Given the description of an element on the screen output the (x, y) to click on. 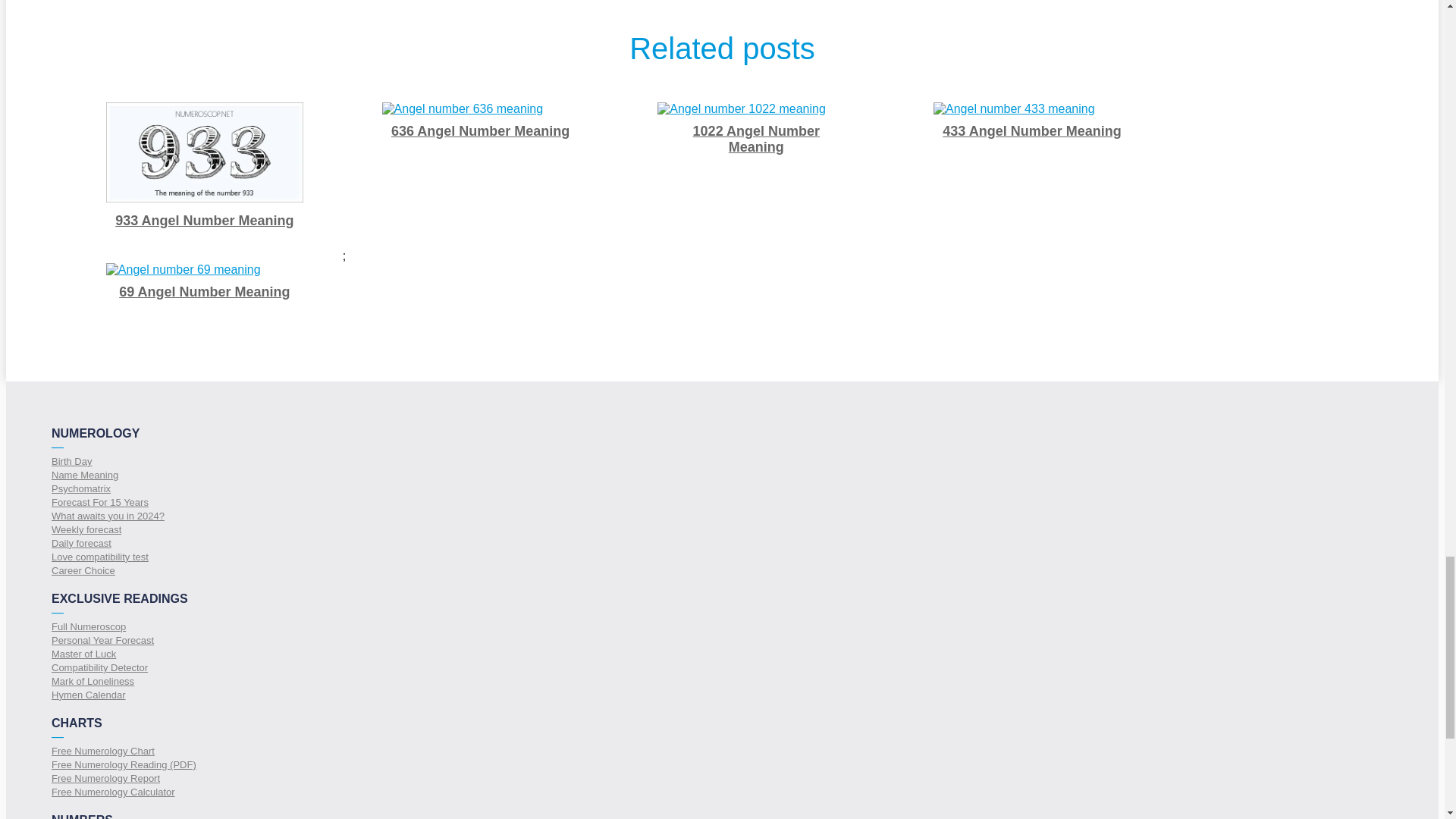
Angel number 933 meaning (204, 152)
Angel number 433 meaning (1013, 109)
Angel number 636 meaning (462, 109)
Angel number 69 meaning (183, 269)
Angel number 1022 meaning (741, 109)
